Given the description of an element on the screen output the (x, y) to click on. 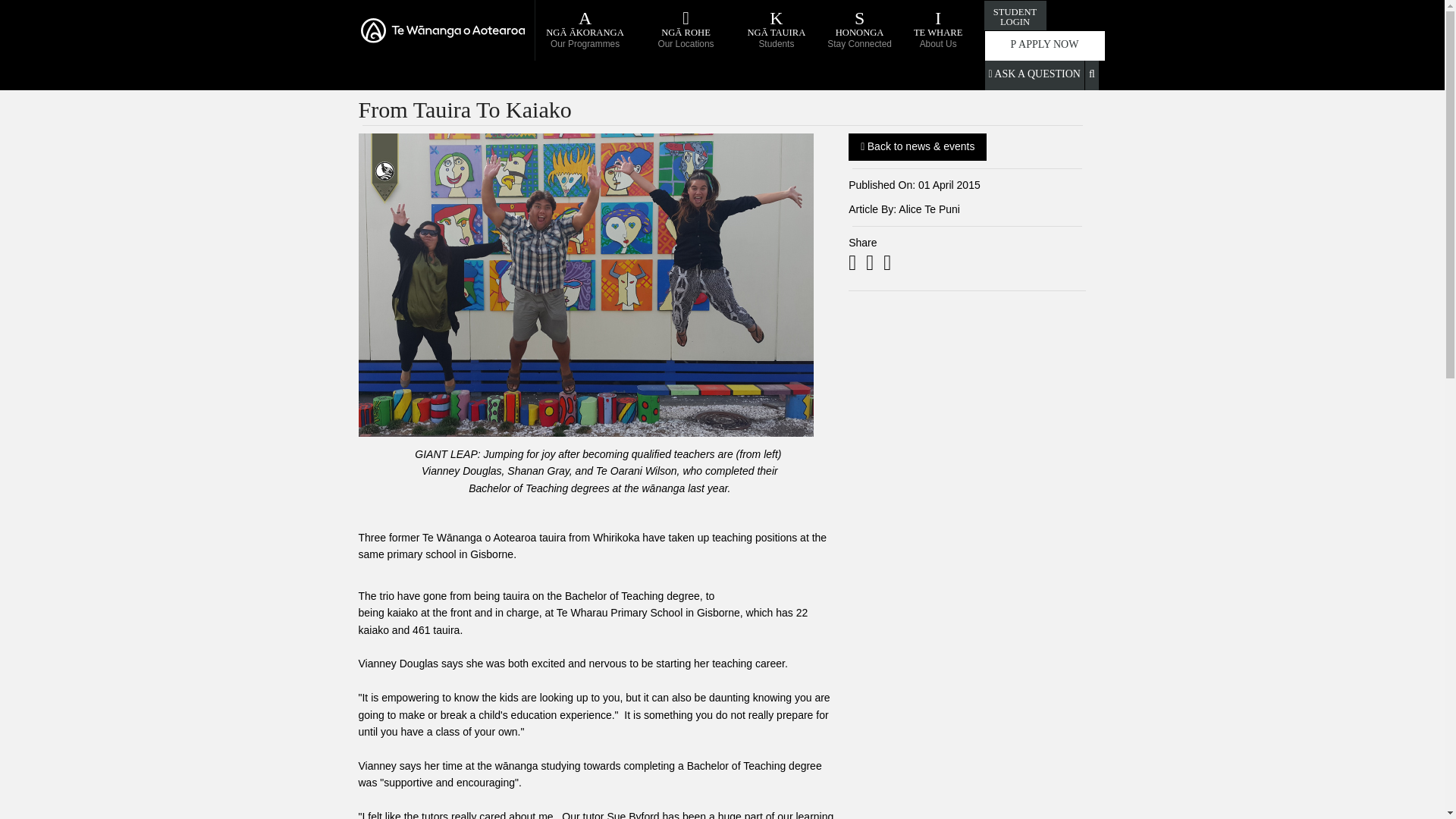
STUDENT LOGIN (1014, 15)
ASK A QUESTION (1034, 74)
APPLY NOW (1044, 45)
